Given the description of an element on the screen output the (x, y) to click on. 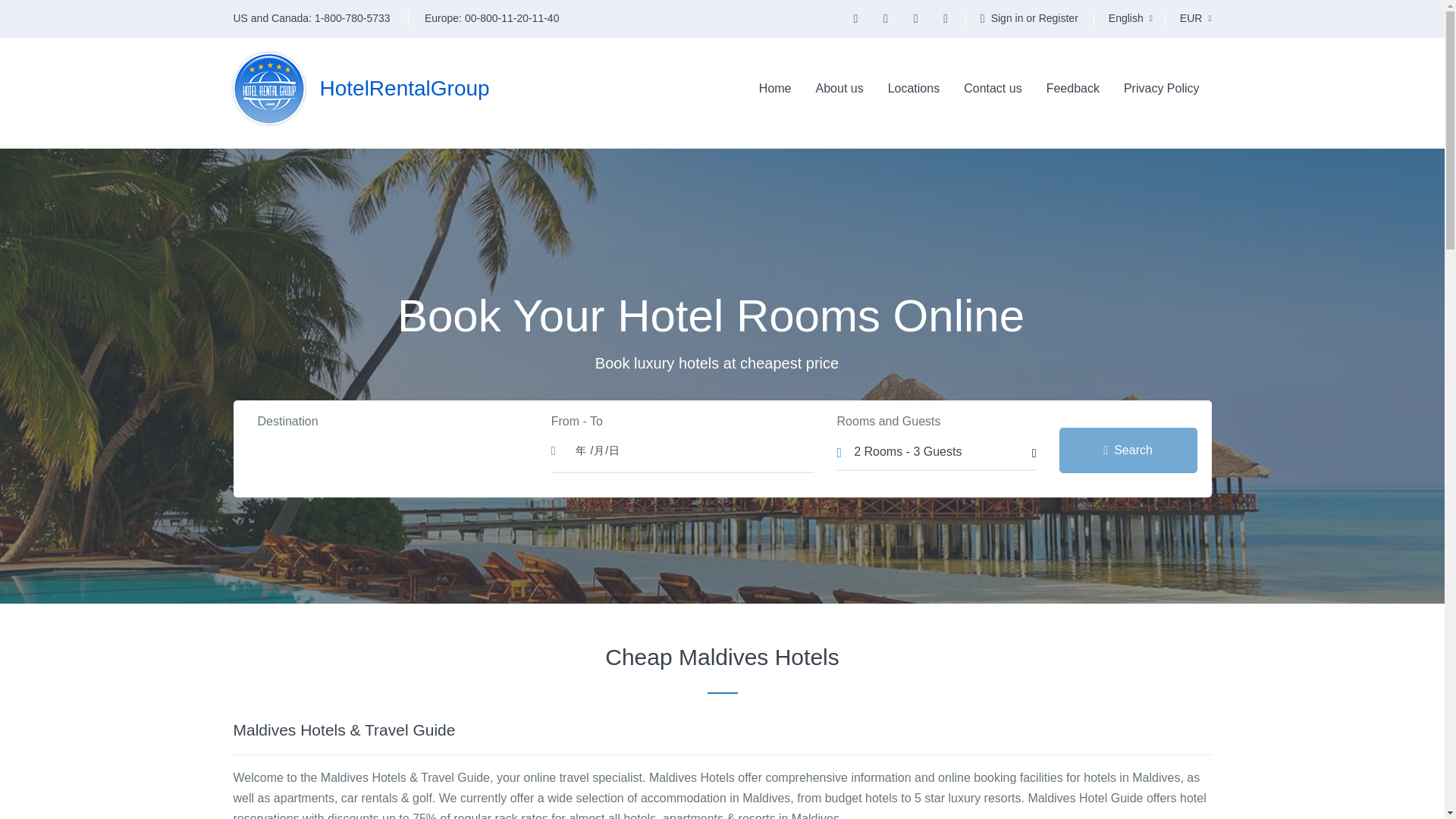
2 Rooms - 3 Guests (936, 450)
Search (1127, 450)
Sign in or Register (1028, 18)
HotelRentalGroup (360, 88)
Contact us (992, 88)
English (1130, 18)
US and Canada: 1-800-780-5733 (319, 18)
About us (839, 88)
EUR (1195, 18)
Feedback (1072, 88)
